Given the description of an element on the screen output the (x, y) to click on. 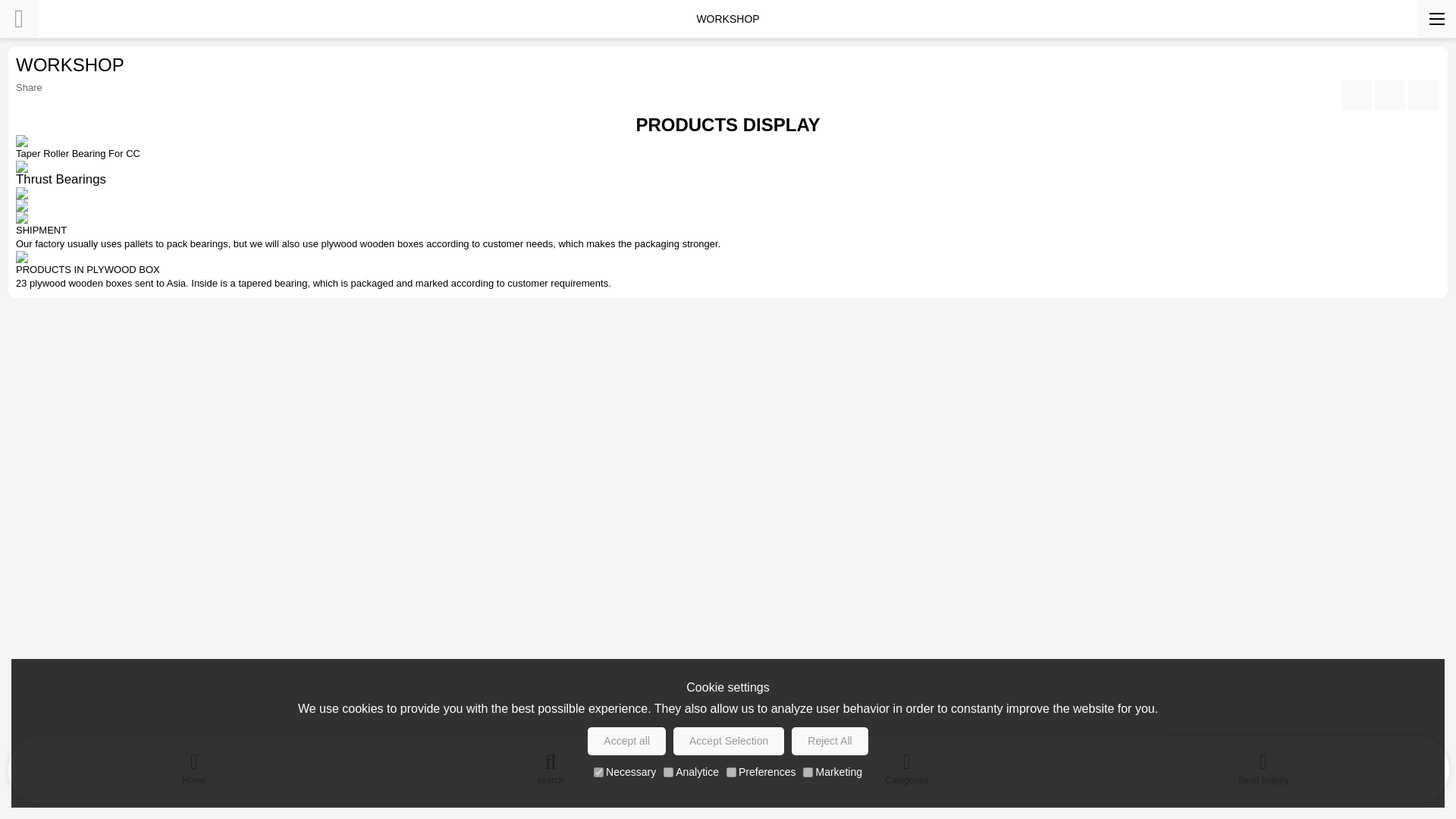
Accept all (626, 741)
Share Twitter (1422, 95)
Return (18, 18)
Accept Selection (728, 741)
on (731, 772)
Share Linkedin (1389, 95)
on (807, 772)
on (667, 772)
Reject All (829, 741)
on (599, 772)
Share Facebook (1355, 95)
